Given the description of an element on the screen output the (x, y) to click on. 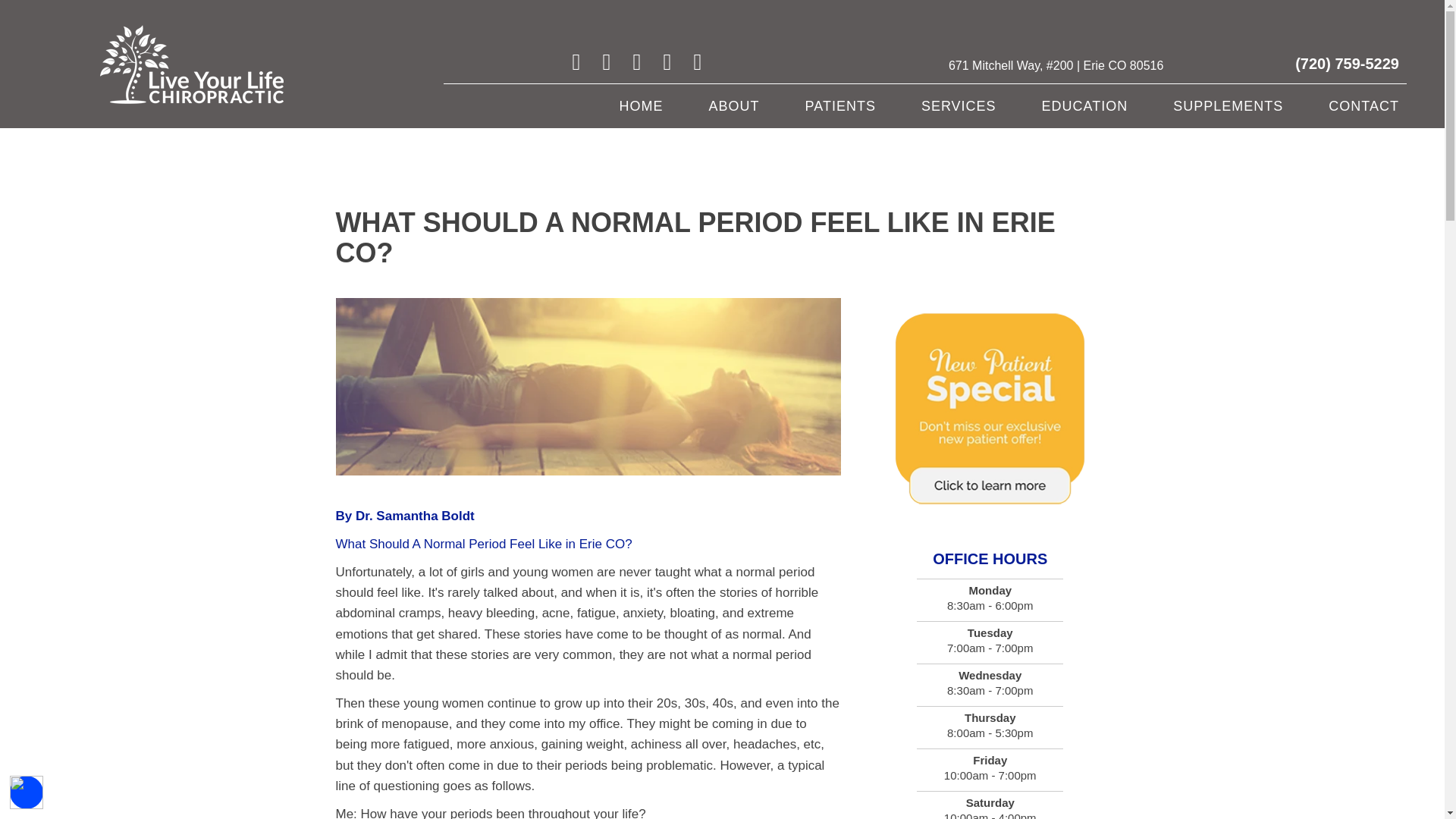
Chiropractic Erie CO Normal Period (587, 386)
SERVICES (958, 105)
HOME (641, 105)
Accessibility Menu (26, 792)
PATIENTS (840, 105)
Chiropractic Erie CO Live Your Life Chiropractic (191, 64)
ABOUT (734, 105)
